Given the description of an element on the screen output the (x, y) to click on. 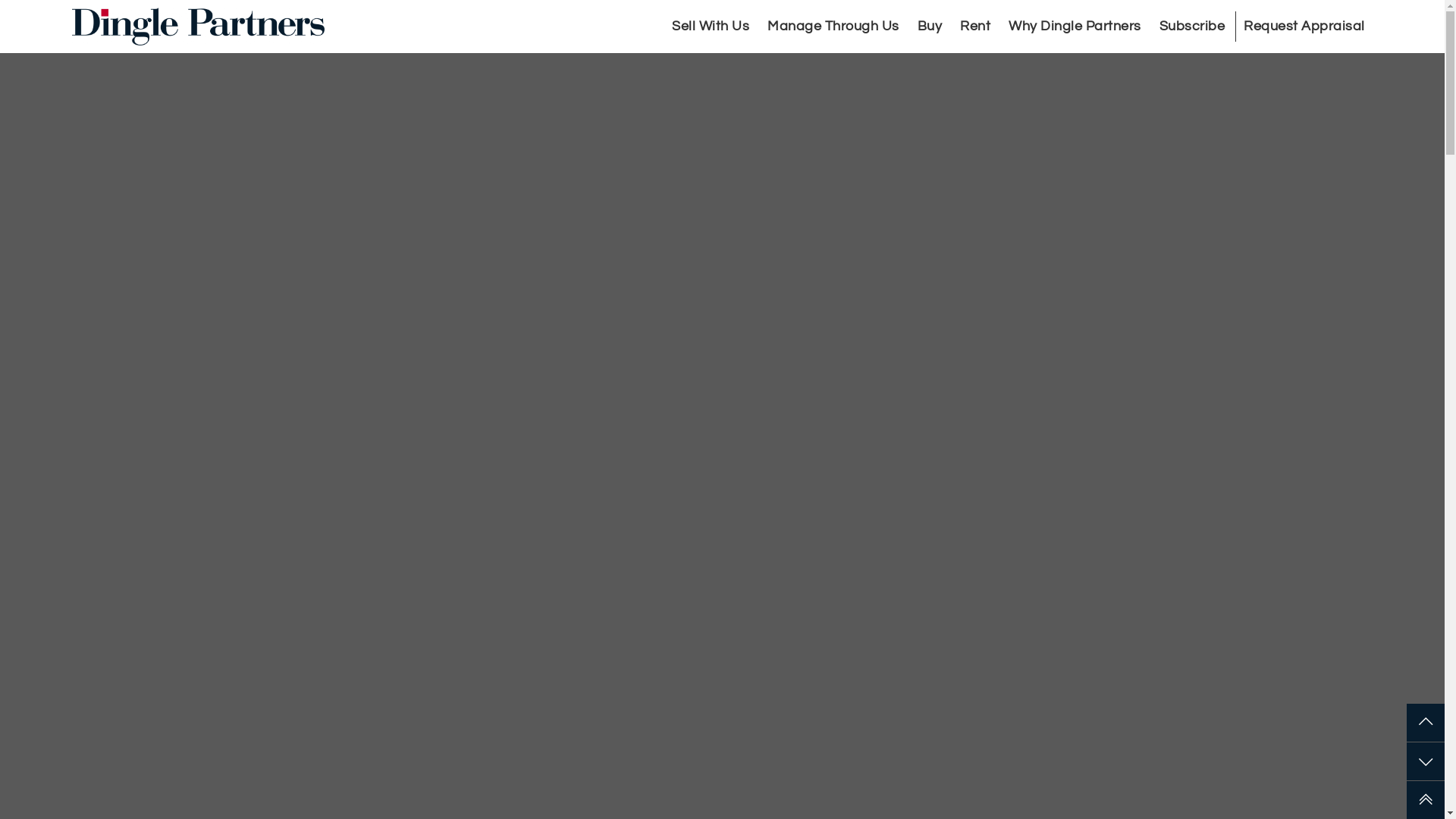
Request Appraisal Element type: text (1304, 26)
Manage Through Us Element type: text (832, 26)
Why Dingle Partners Element type: text (1074, 26)
Buy Element type: text (930, 26)
Subscribe Element type: text (1192, 26)
Sell With Us Element type: text (710, 26)
WEBSITE BG DRAFT6 BW Element type: hover (722, 406)
Rent Element type: text (974, 26)
